Given the description of an element on the screen output the (x, y) to click on. 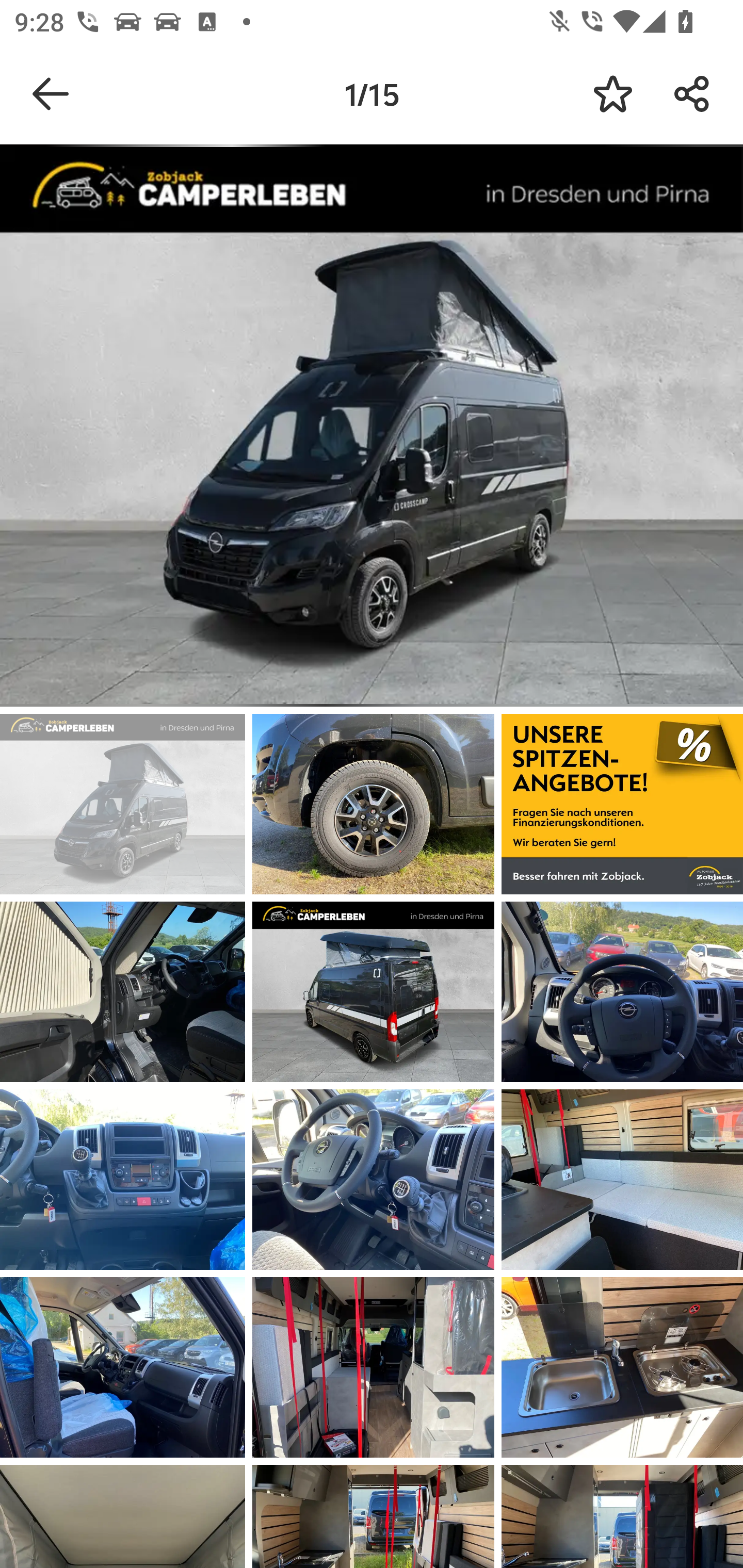
back button (50, 93)
share button (692, 93)
main image view (371, 428)
image (122, 803)
image (373, 803)
image (622, 803)
image (122, 991)
image (373, 991)
image (622, 991)
image (122, 1179)
image (373, 1179)
image (622, 1179)
image (122, 1367)
image (373, 1367)
image (622, 1367)
